Given the description of an element on the screen output the (x, y) to click on. 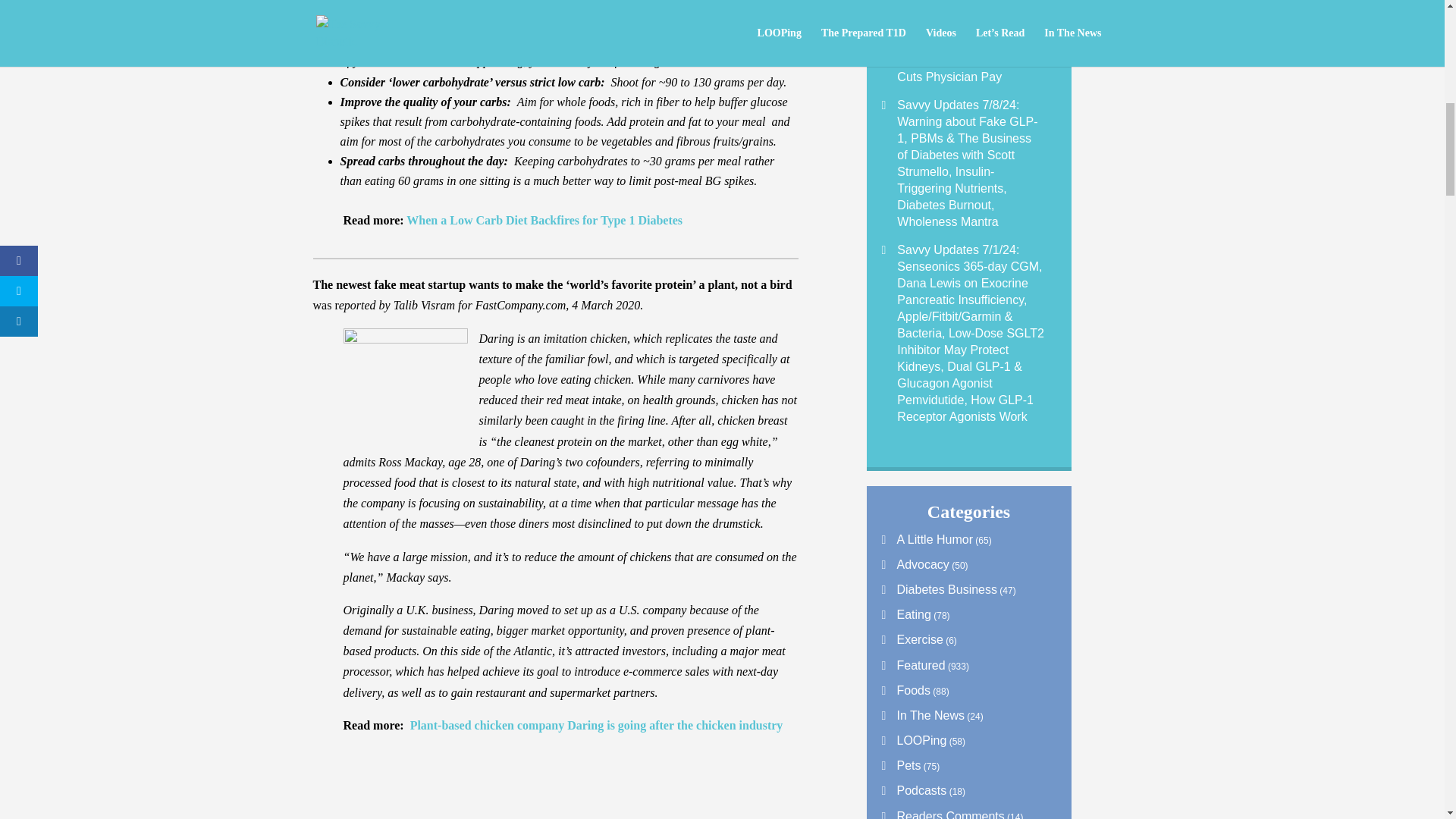
When a Low Carb Diet Backfires for Type 1 Diabetes (544, 219)
Foods (905, 689)
Eating (905, 614)
A Little Humor (926, 539)
Podcasts (913, 789)
Advocacy (914, 563)
LOOPing (913, 739)
In The News (921, 715)
Diabetes Business (938, 589)
Exercise (911, 639)
Pets (900, 765)
Featured (912, 665)
